Given the description of an element on the screen output the (x, y) to click on. 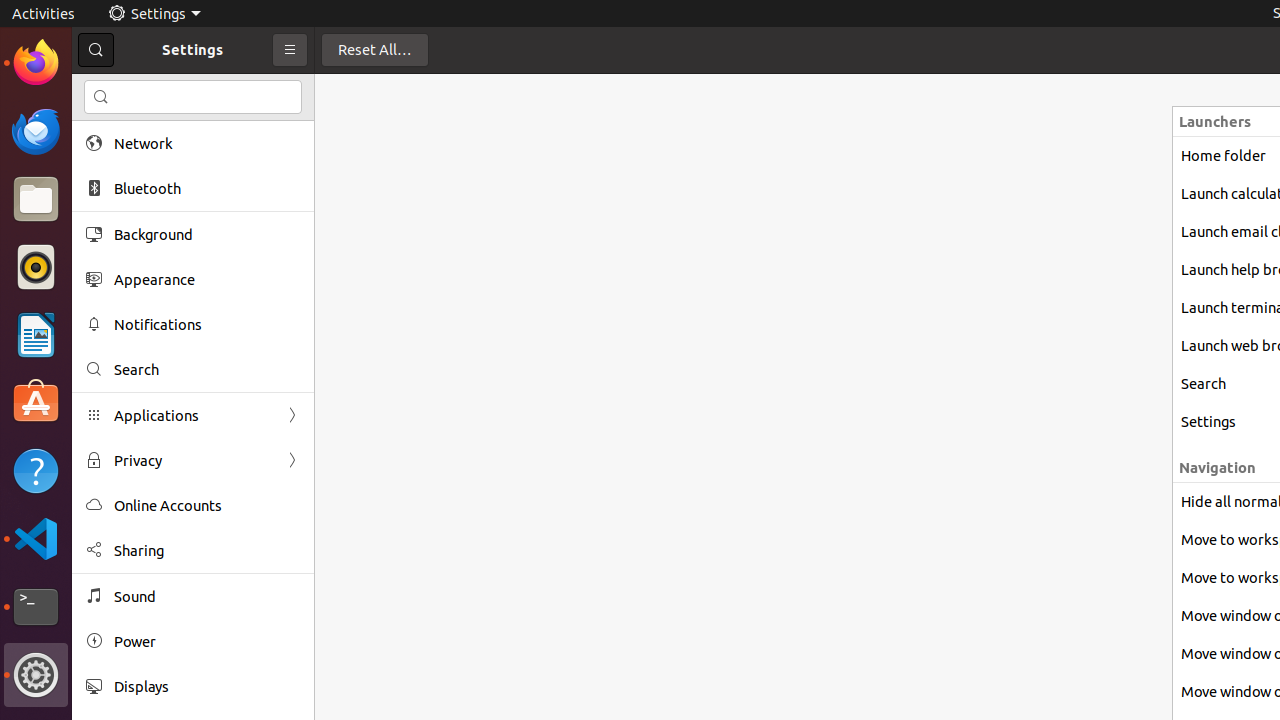
Sound Element type: label (207, 596)
edit-find-symbolic Element type: icon (101, 97)
Background Element type: label (207, 234)
